Given the description of an element on the screen output the (x, y) to click on. 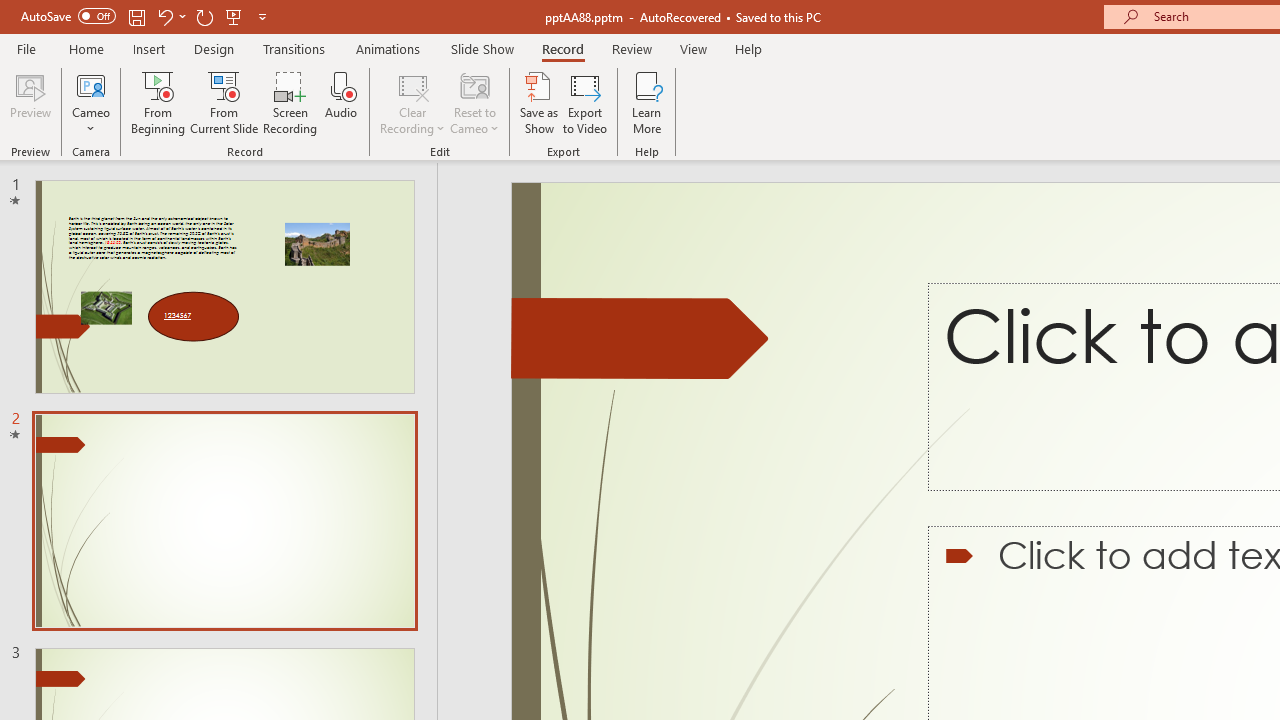
From Current Slide... (224, 102)
